Given the description of an element on the screen output the (x, y) to click on. 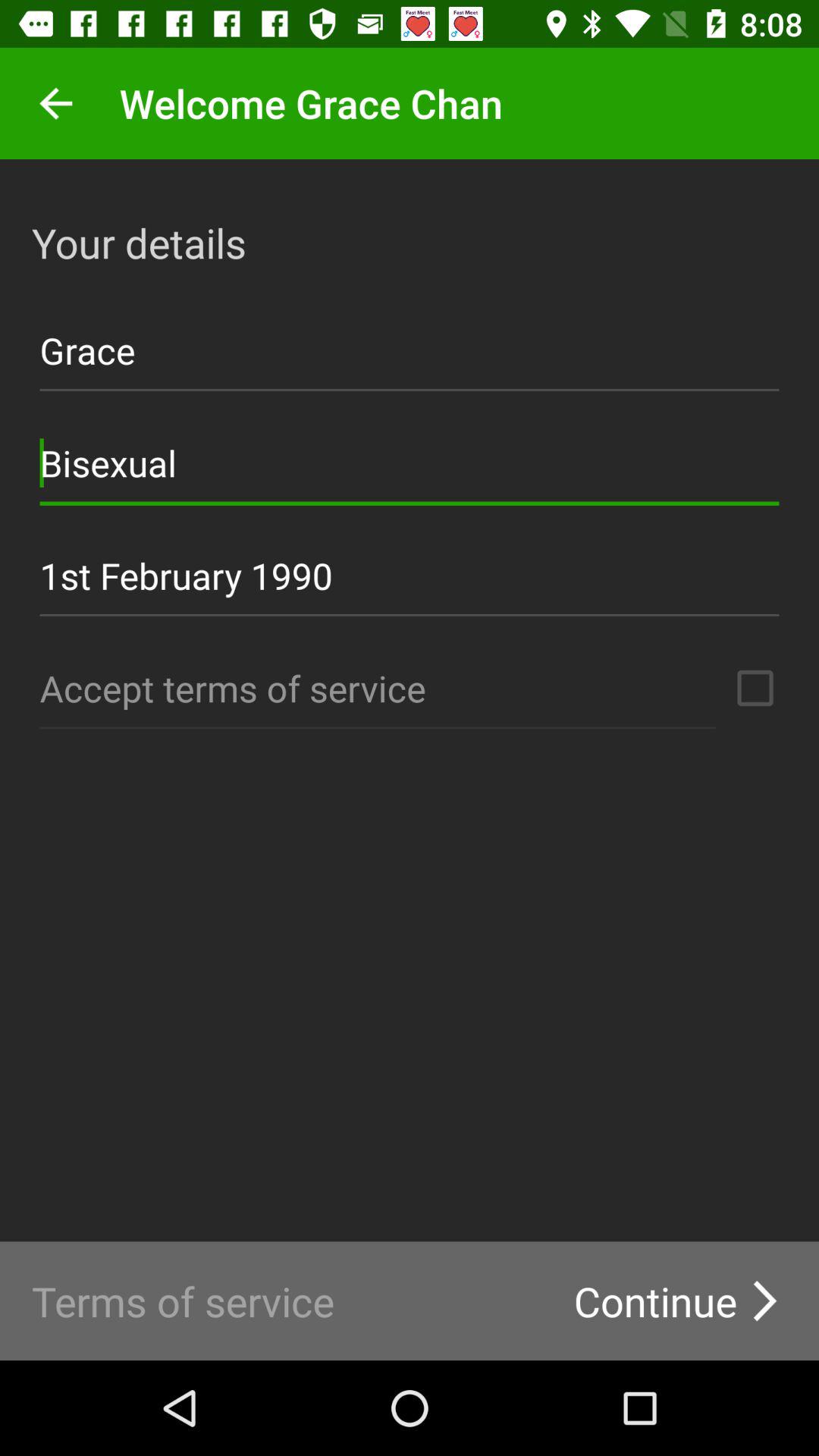
go to previous app menu (55, 103)
